Given the description of an element on the screen output the (x, y) to click on. 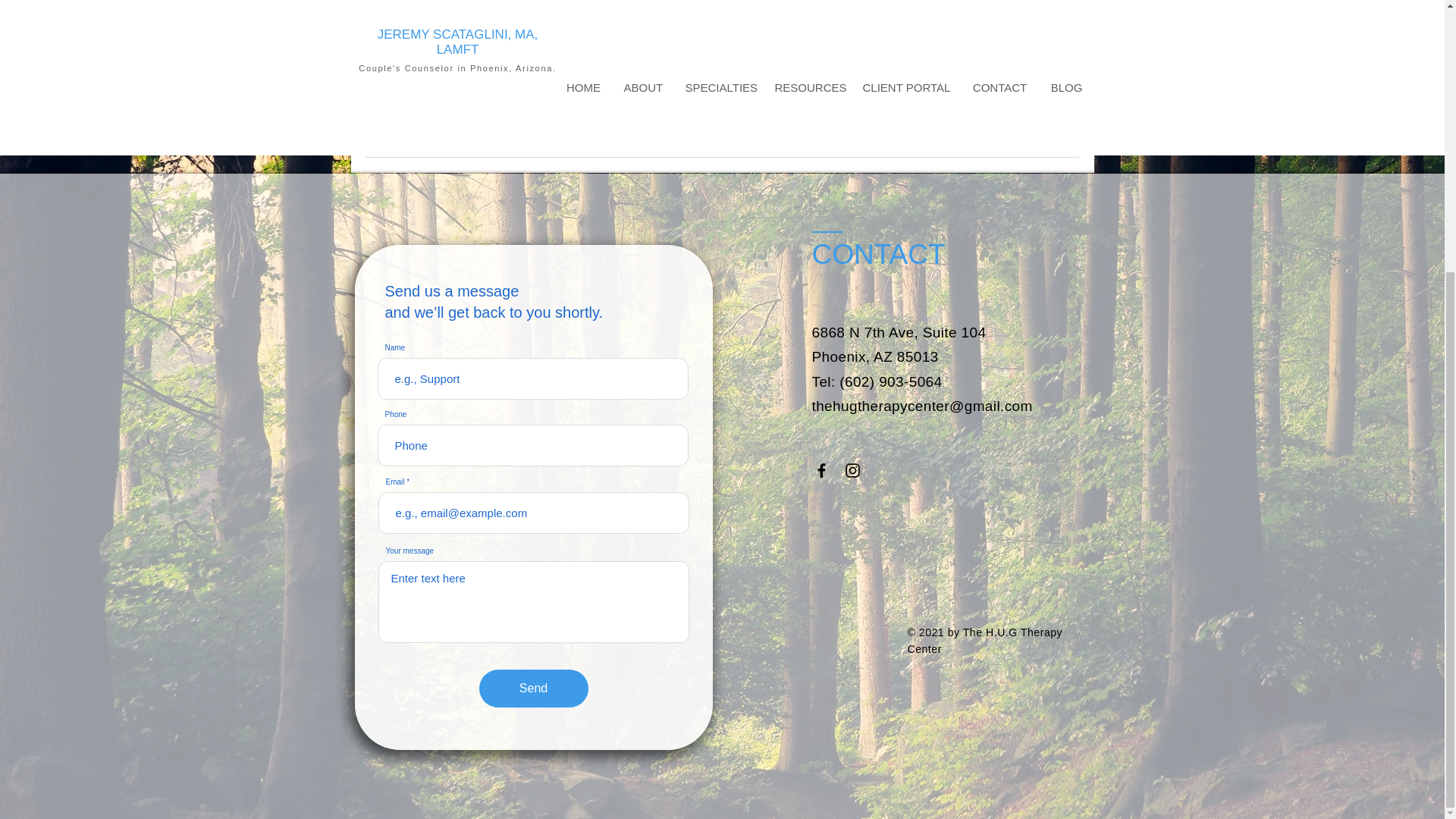
See More Posts (722, 37)
Send (533, 688)
